Given the description of an element on the screen output the (x, y) to click on. 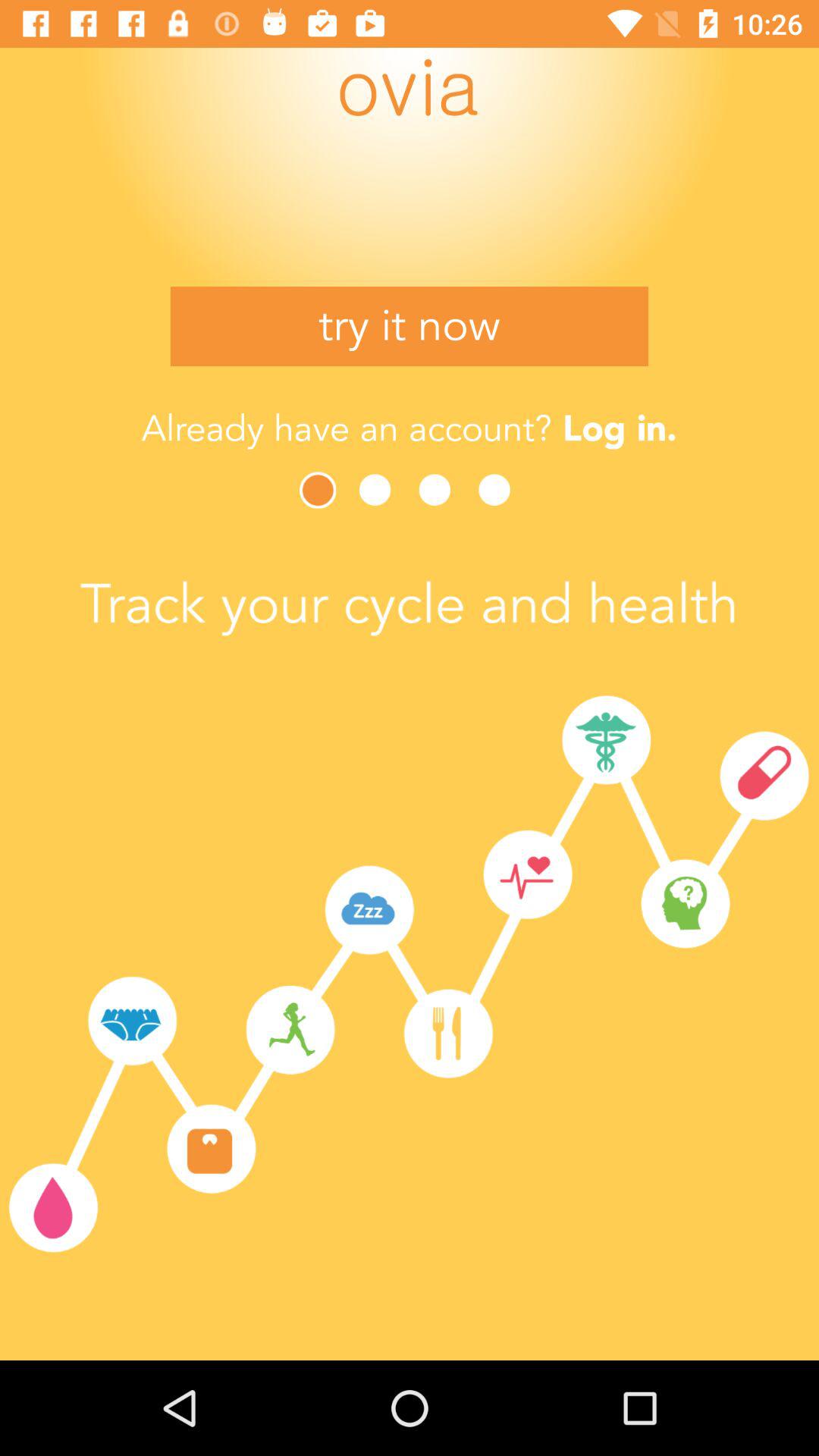
see the next tip (498, 490)
